Given the description of an element on the screen output the (x, y) to click on. 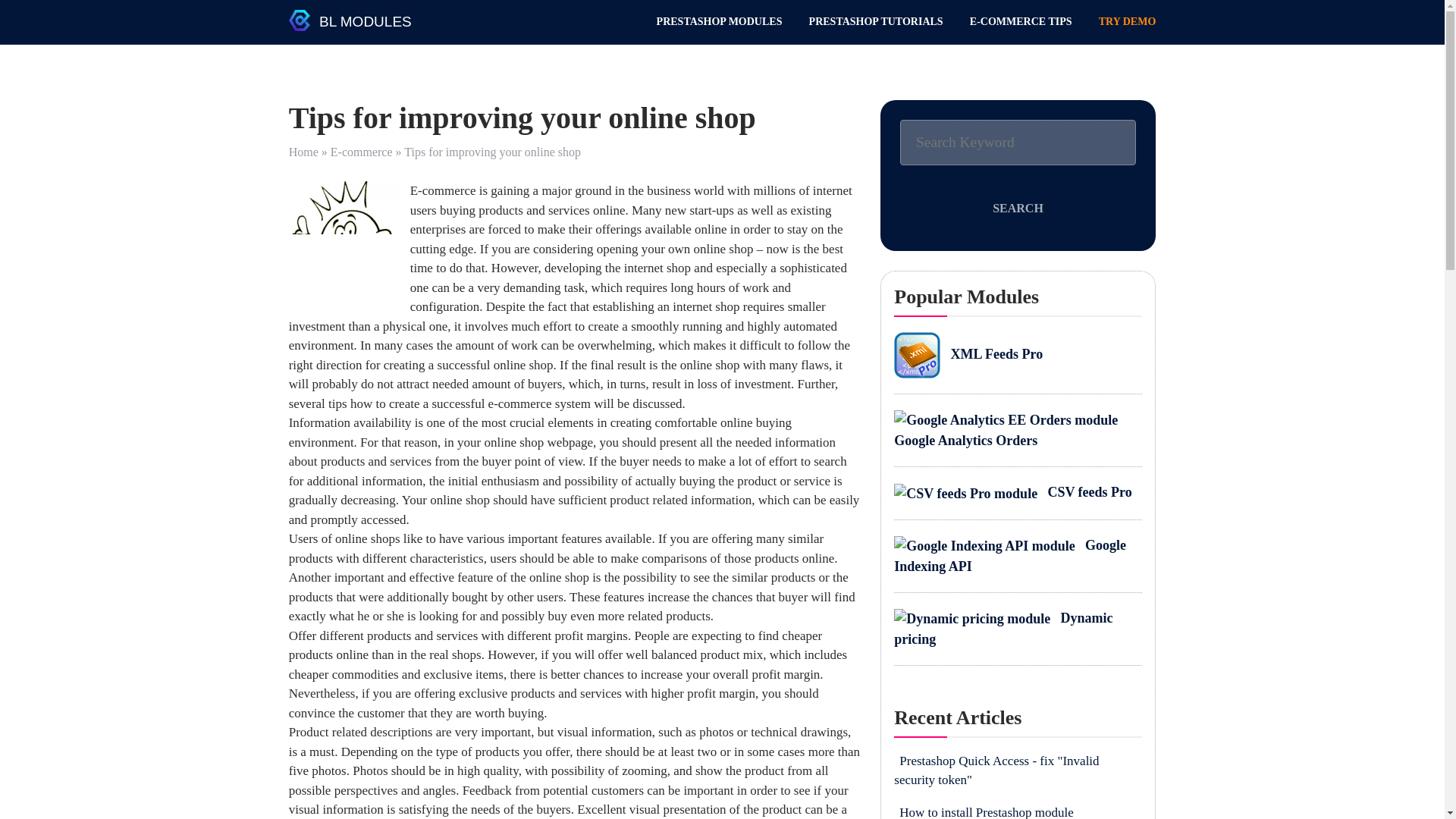
e-commerce tips (345, 237)
Prestashop Quick Access - fix "Invalid security token" (996, 770)
E-COMMERCE TIPS (1020, 21)
Search (1017, 207)
PRESTASHOP MODULES (719, 21)
CSV feeds Pro (1012, 491)
PRESTASHOP TUTORIALS (876, 21)
Home (303, 151)
TRY DEMO (1127, 21)
XML Feeds Pro (967, 353)
